Given the description of an element on the screen output the (x, y) to click on. 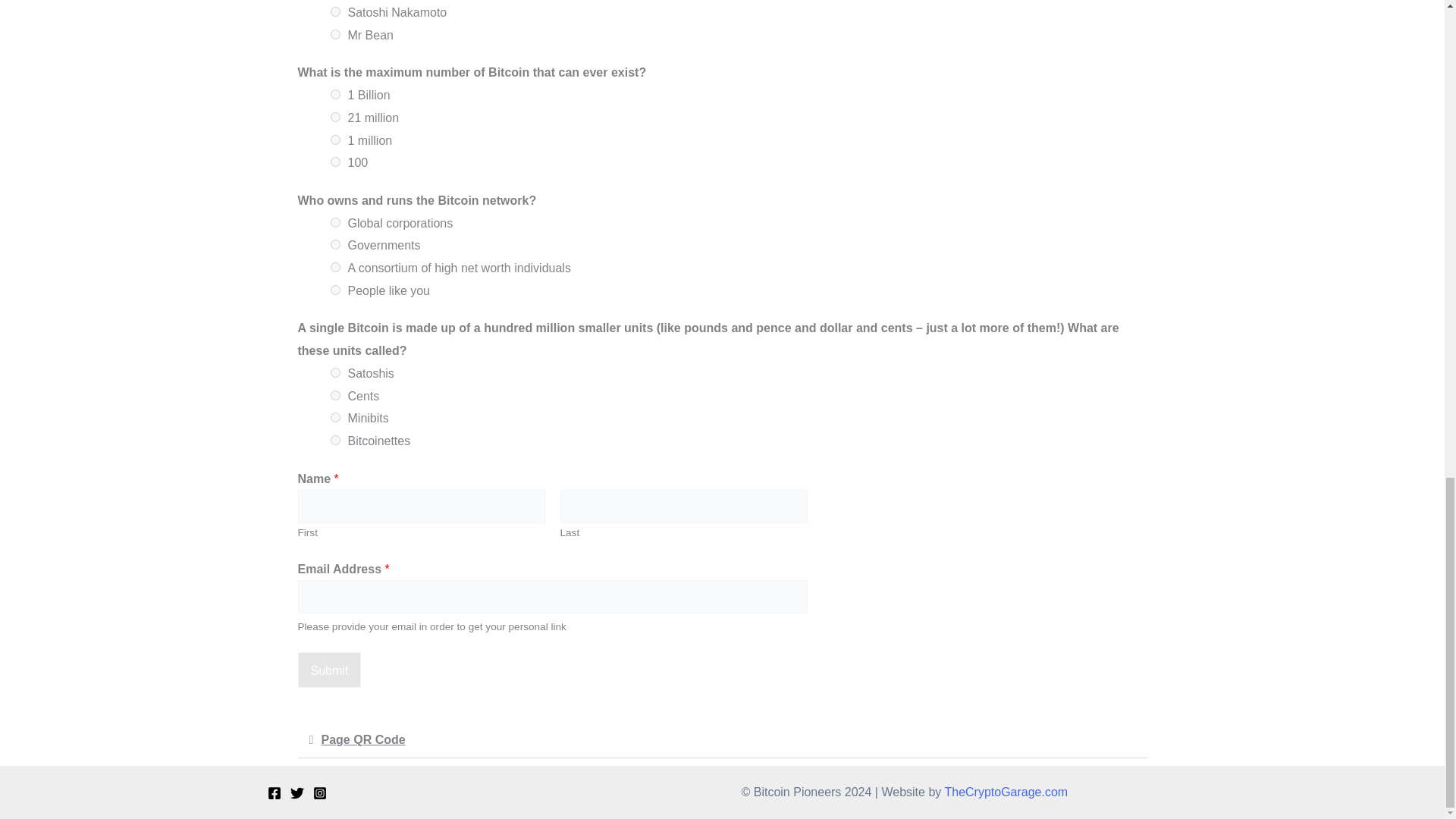
1 million (335, 139)
People like you (335, 289)
Bitcoinettes (335, 439)
Satoshis (335, 372)
Page QR Code (363, 739)
1 Billion (335, 94)
21 million (335, 117)
TheCryptoGarage.com (1005, 791)
A consortium of high net worth individuals (335, 266)
Satoshi Nakamoto (335, 11)
Minibits (335, 417)
Global corporations (335, 222)
Governments (335, 244)
Submit (329, 669)
Mr Bean (335, 34)
